Given the description of an element on the screen output the (x, y) to click on. 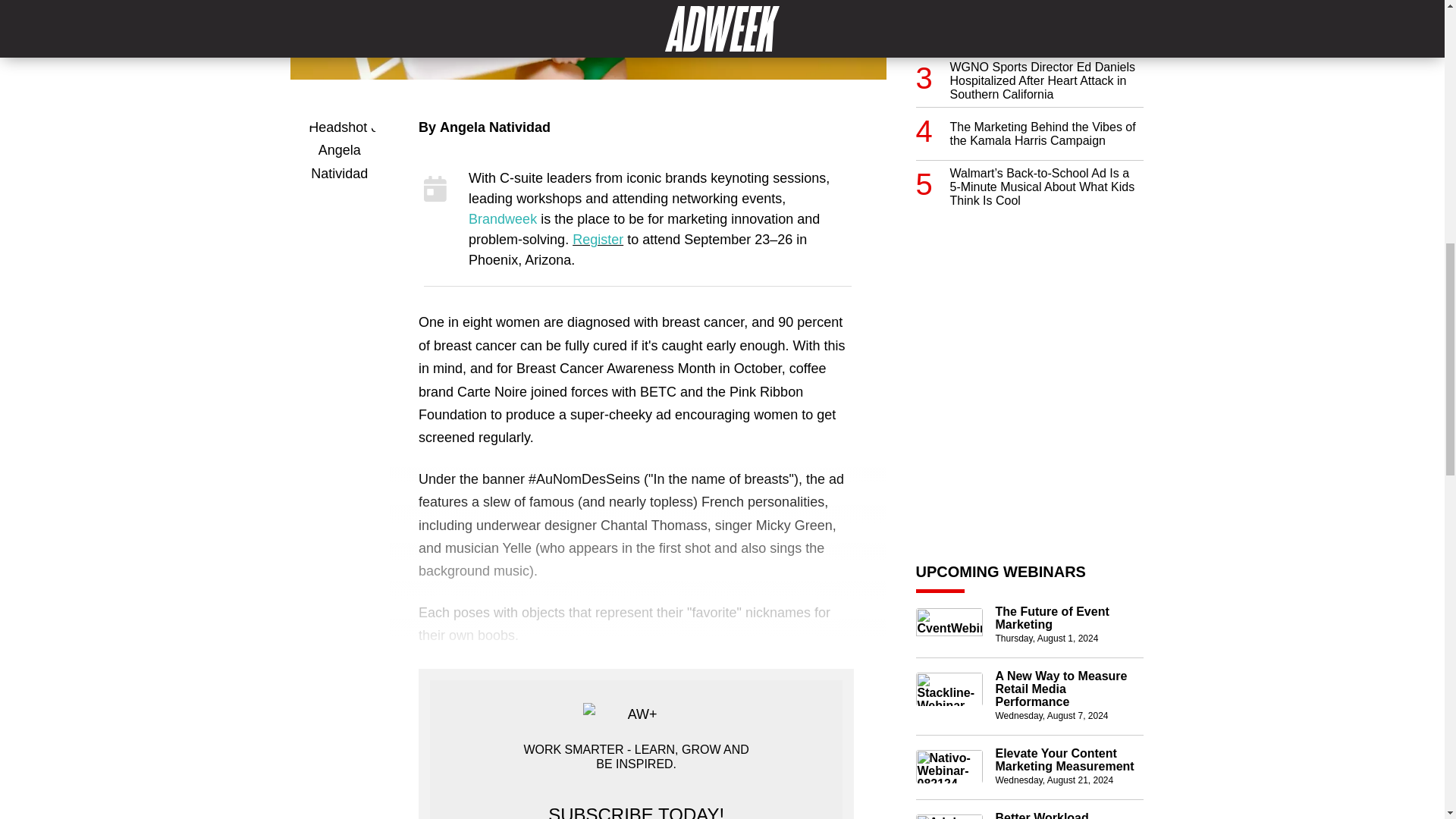
Nativo-Webinar-082124-Header (948, 766)
Angela Natividad (494, 127)
The Future of Event Marketing (1068, 617)
A New Way to Measure Retail Media Performance (1068, 688)
Elevate Your Content Marketing Measurement (1068, 759)
Register (597, 239)
CventWebinar08012Header (948, 624)
Stackline-Webinar-080724-Header (948, 688)
betc-carte-noir-1.png (587, 39)
The Marketing Behind the Vibes of the Kamala Harris Campaign (1045, 116)
WPP and Nvidia Partner to Make 3D Ads Using Gen AI (1045, 12)
Adobe-Webinar-082224-Header (948, 816)
